Given the description of an element on the screen output the (x, y) to click on. 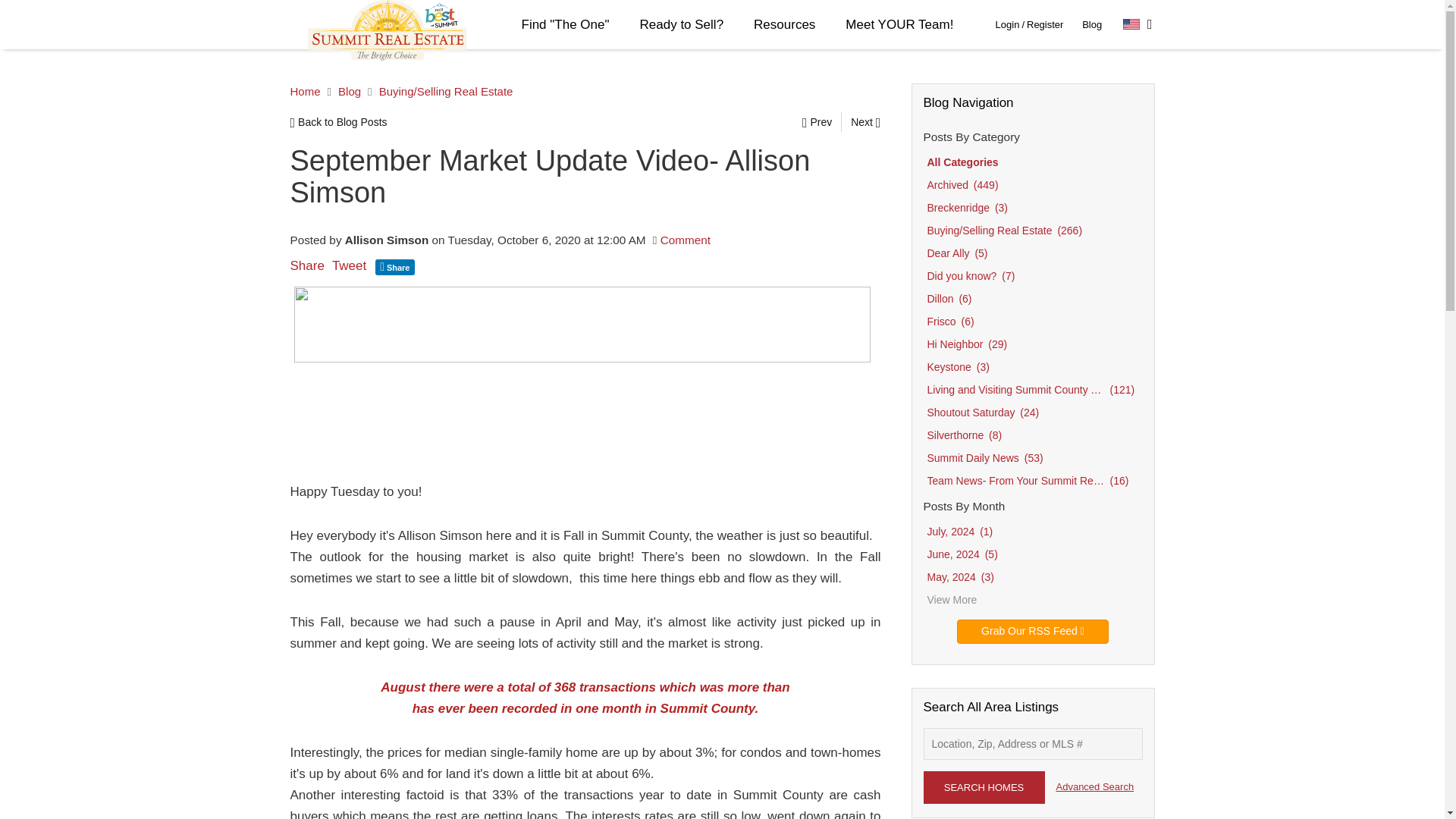
Find "The One" (565, 24)
Select Language (1137, 24)
Meet YOUR Team! (898, 24)
Resources (783, 24)
Ready to Sell? (681, 24)
